Given the description of an element on the screen output the (x, y) to click on. 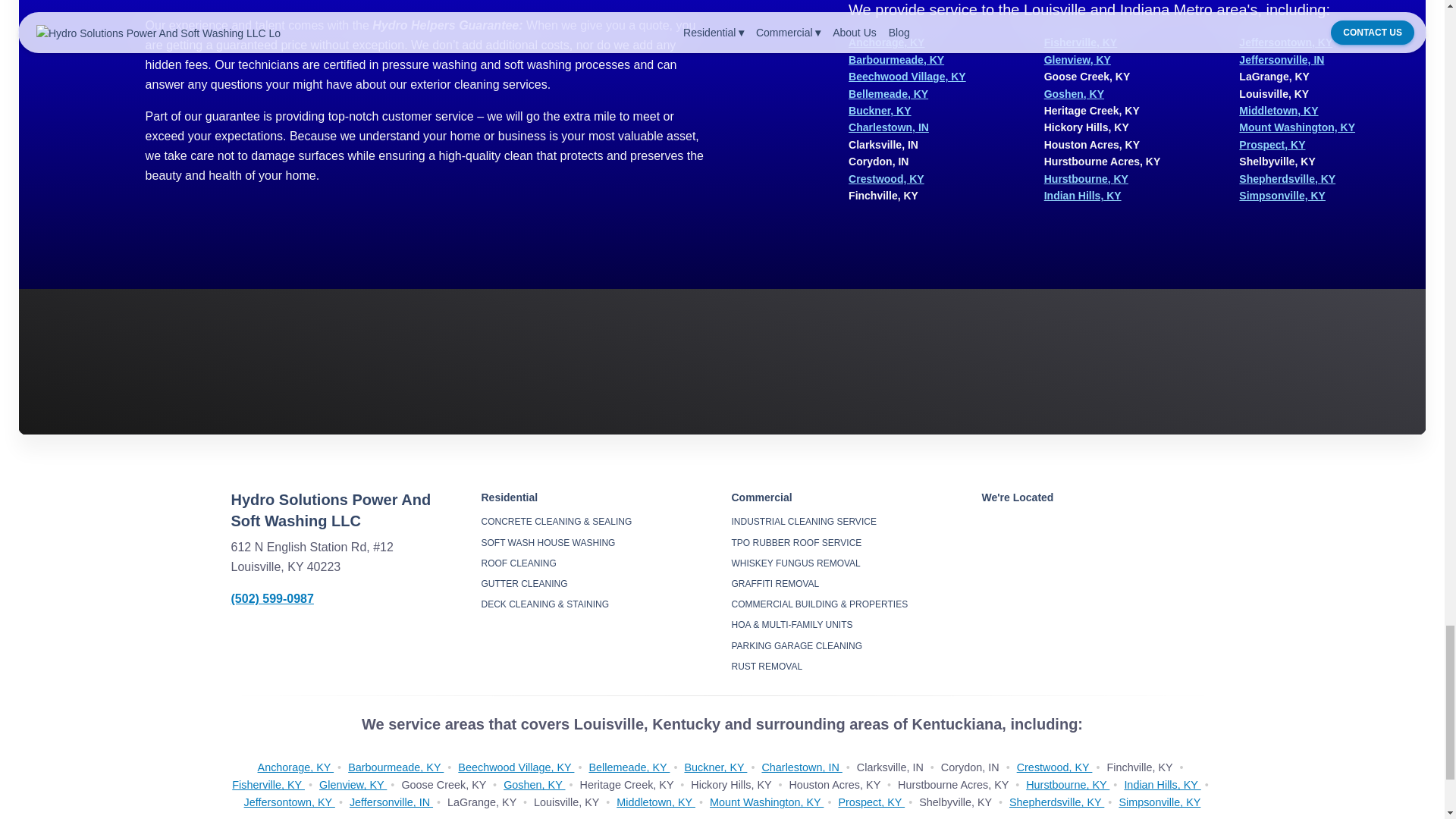
Buckner, KY (879, 110)
Beechwood Village, KY (907, 76)
Charlestown, IN (888, 127)
Hydro Solutions Power And Soft Washing LLC Location (1096, 587)
Goshen, KY (1073, 93)
Fisherville, KY (1079, 42)
Crestwood, KY (886, 178)
Barbourmeade, KY (895, 60)
Anchorage, KY (886, 42)
Bellemeade, KY (888, 93)
